Given the description of an element on the screen output the (x, y) to click on. 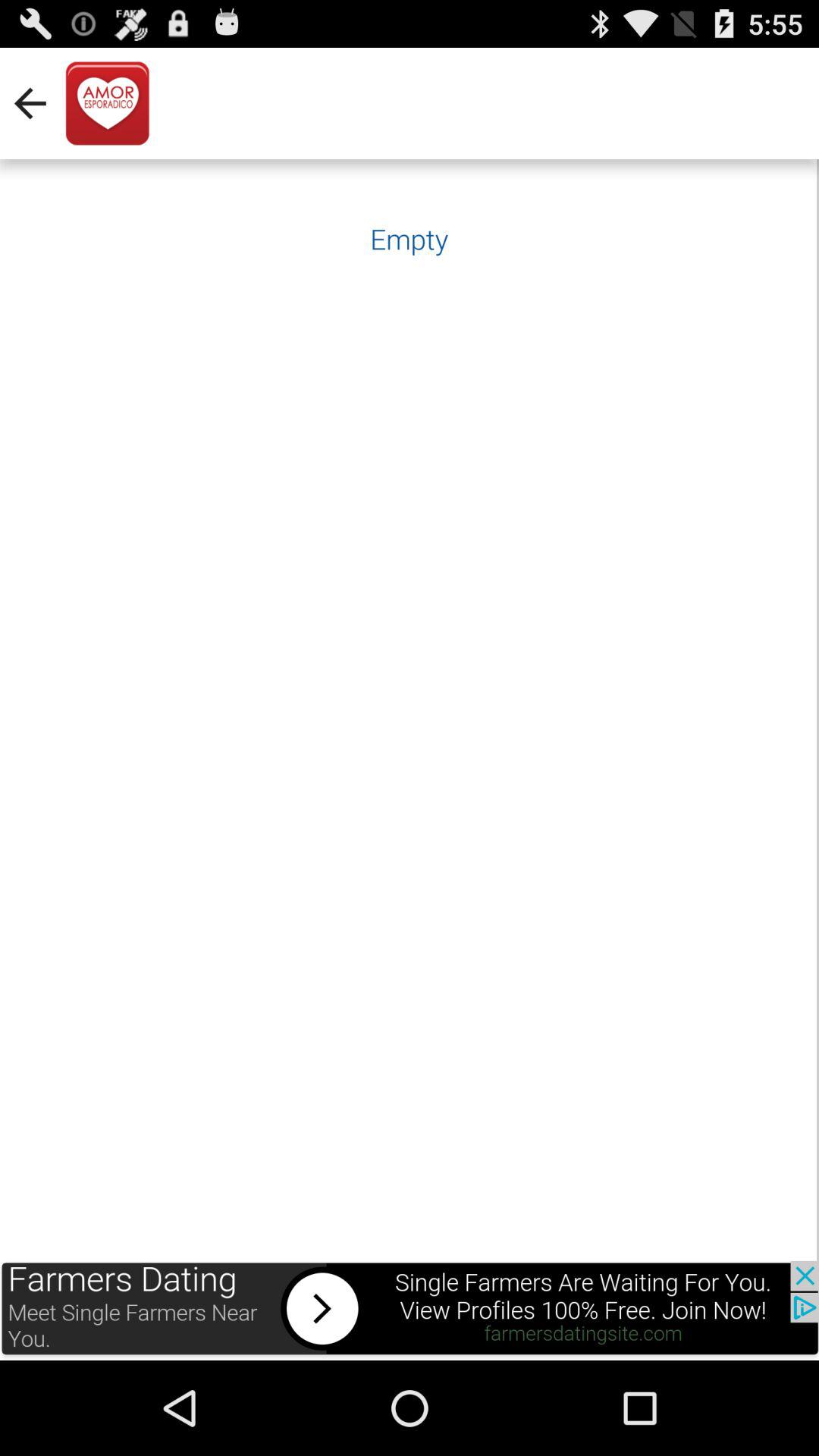
explore advertisement (409, 1310)
